Given the description of an element on the screen output the (x, y) to click on. 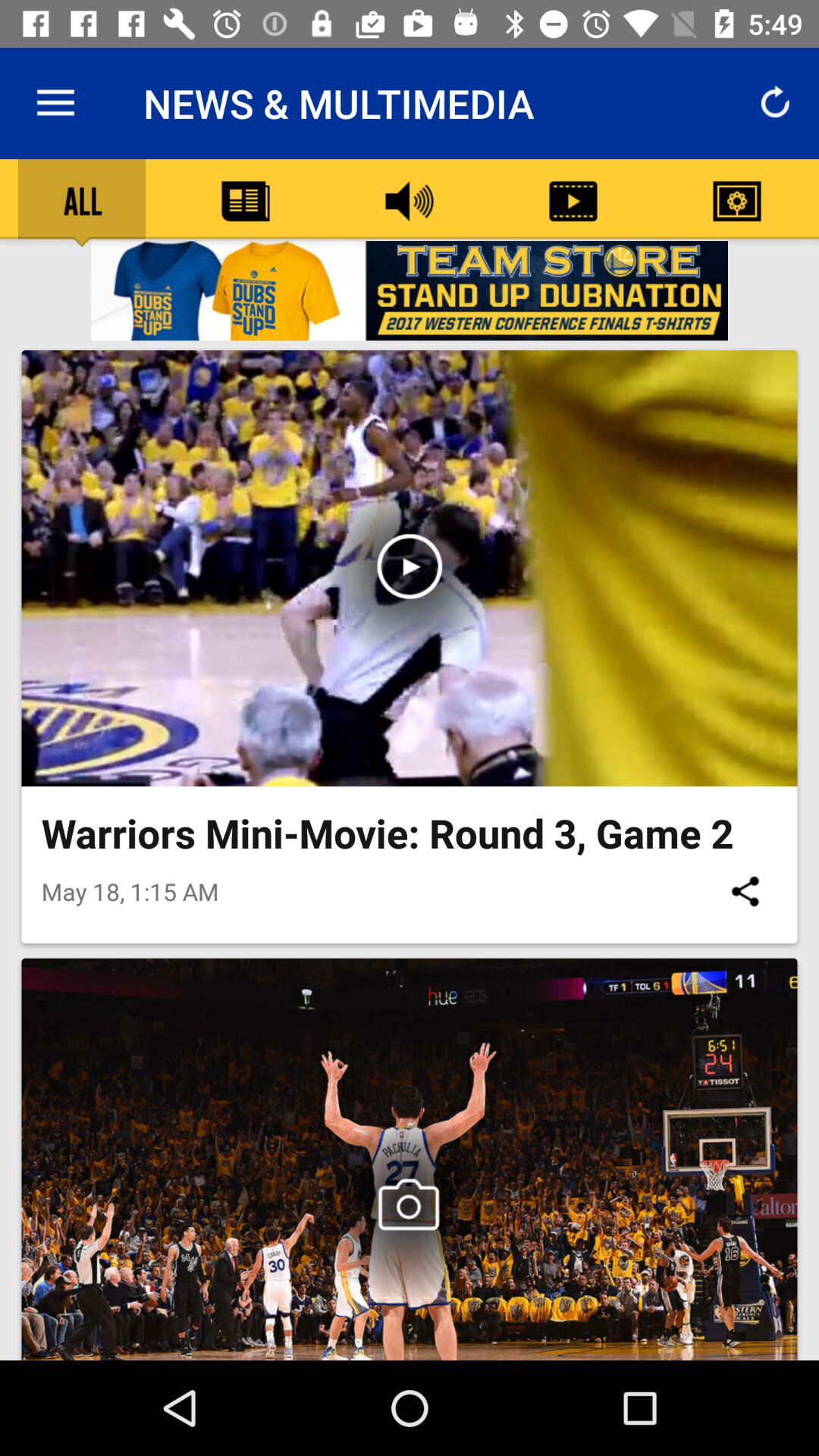
click the item on the right (745, 891)
